Given the description of an element on the screen output the (x, y) to click on. 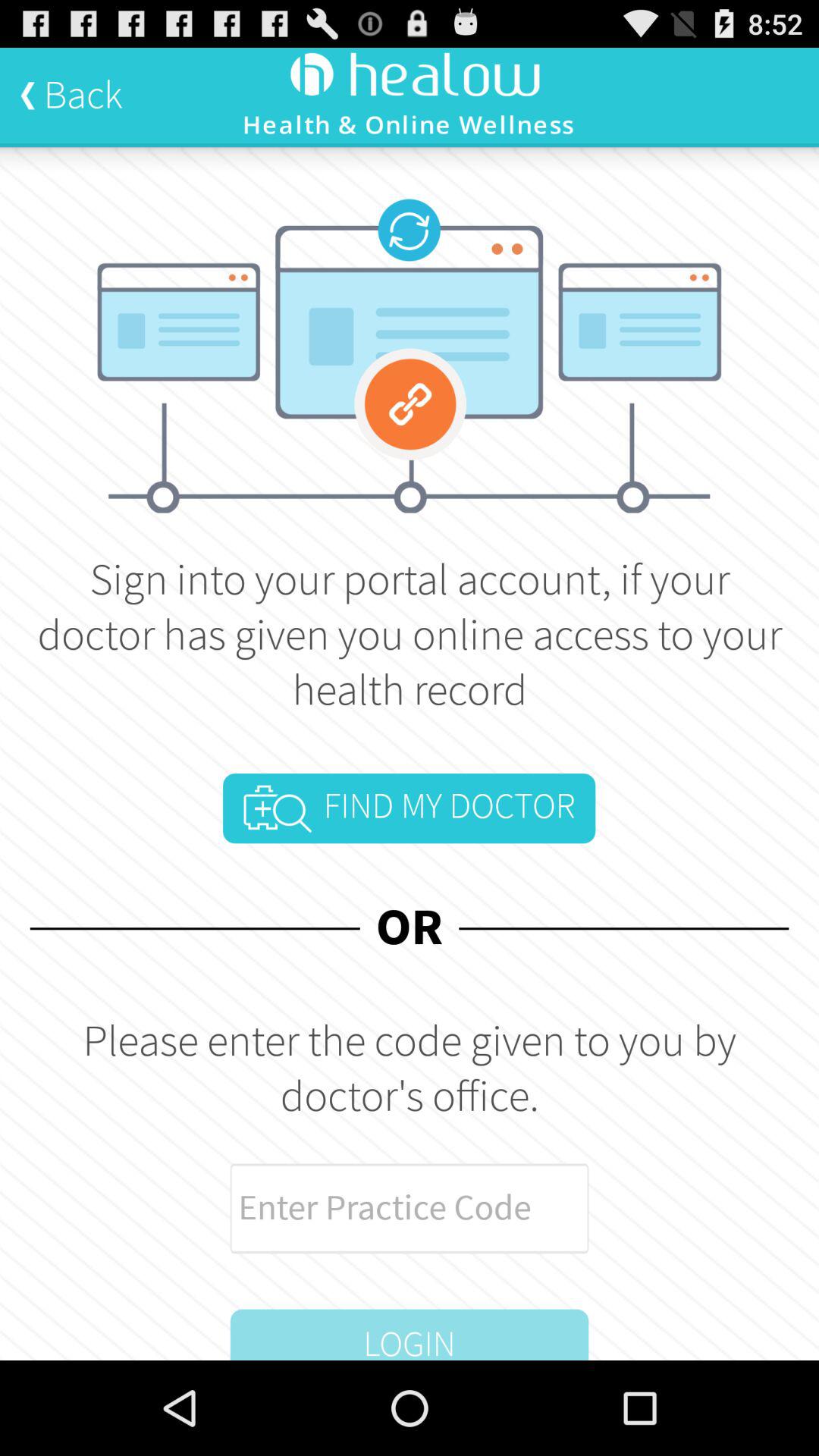
turn off login (409, 1334)
